Given the description of an element on the screen output the (x, y) to click on. 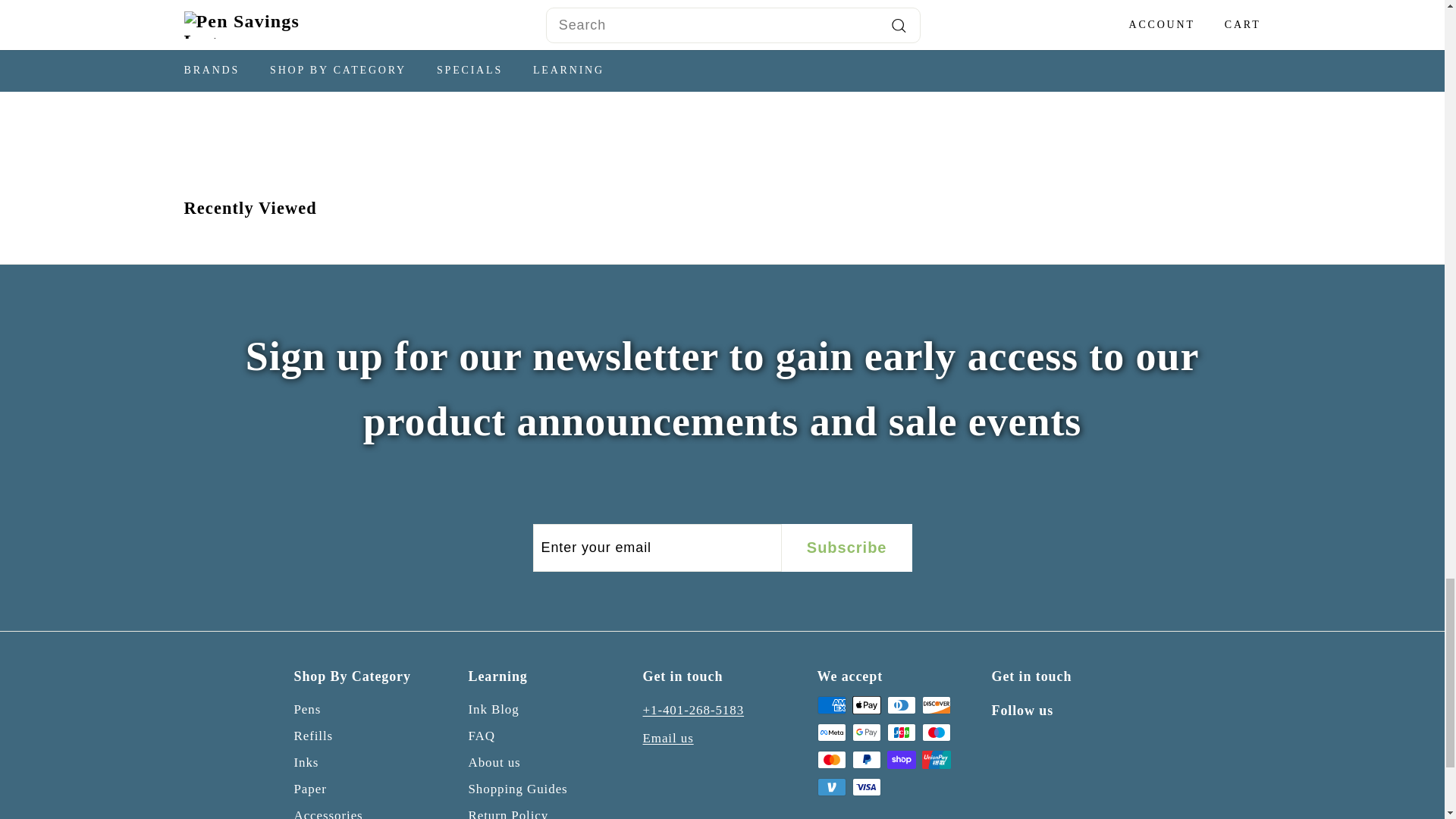
Discover (935, 705)
Google Pay (865, 732)
Apple Pay (865, 705)
Union Pay (935, 760)
Visa (865, 787)
PayPal (865, 760)
Shop Pay (900, 760)
American Express (830, 705)
JCB (900, 732)
Venmo (830, 787)
